Given the description of an element on the screen output the (x, y) to click on. 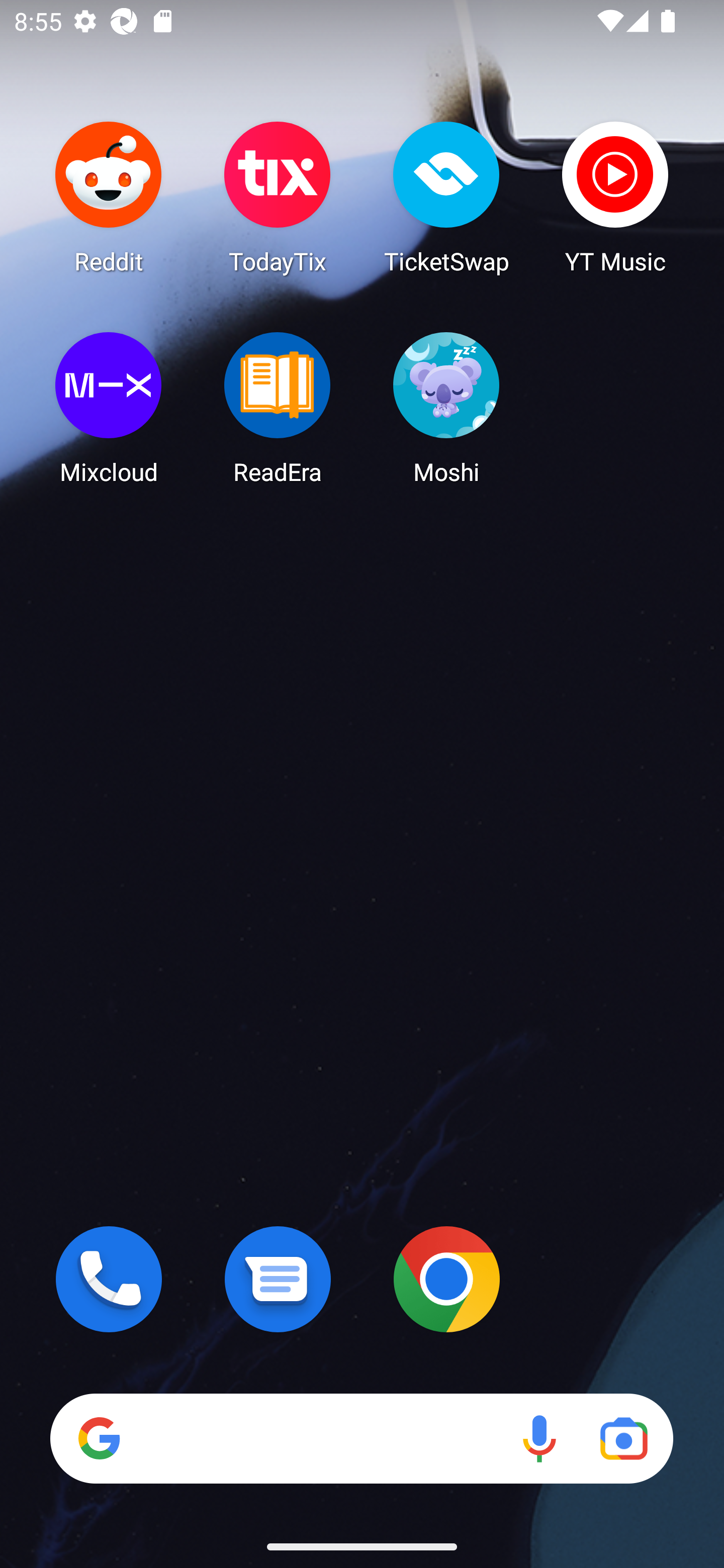
Reddit (108, 196)
TodayTix (277, 196)
TicketSwap (445, 196)
YT Music (615, 196)
Mixcloud (108, 407)
ReadEra (277, 407)
Moshi (445, 407)
Phone (108, 1279)
Messages (277, 1279)
Chrome (446, 1279)
Voice search (539, 1438)
Google Lens (623, 1438)
